Given the description of an element on the screen output the (x, y) to click on. 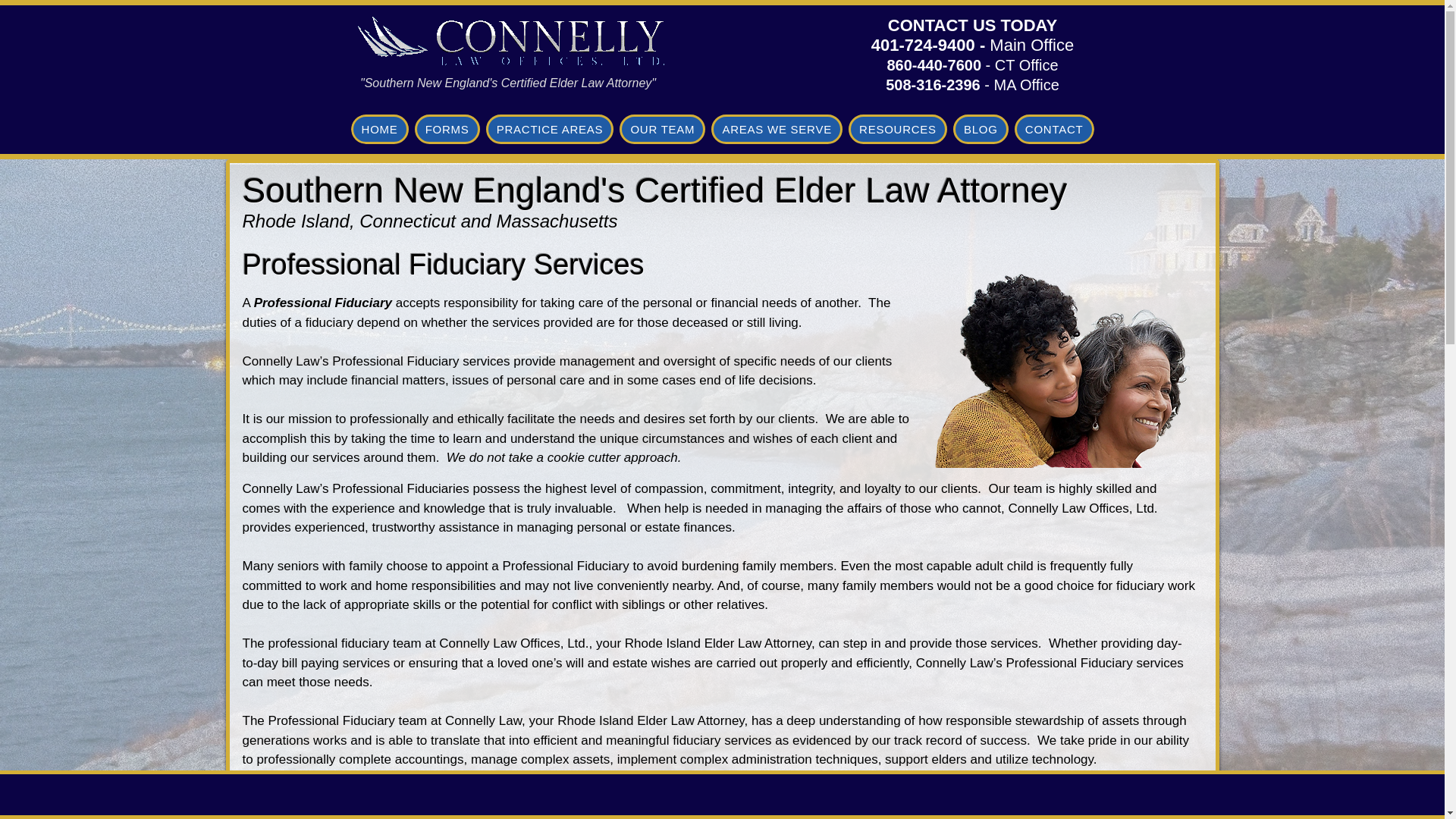
PRACTICE AREAS (550, 129)
BLOG (981, 129)
FORMS (447, 129)
RESOURCES (897, 129)
HOME (378, 129)
Probate (506, 40)
OUR TEAM (662, 129)
CONTACT (1054, 129)
AREAS WE SERVE (777, 129)
